Given the description of an element on the screen output the (x, y) to click on. 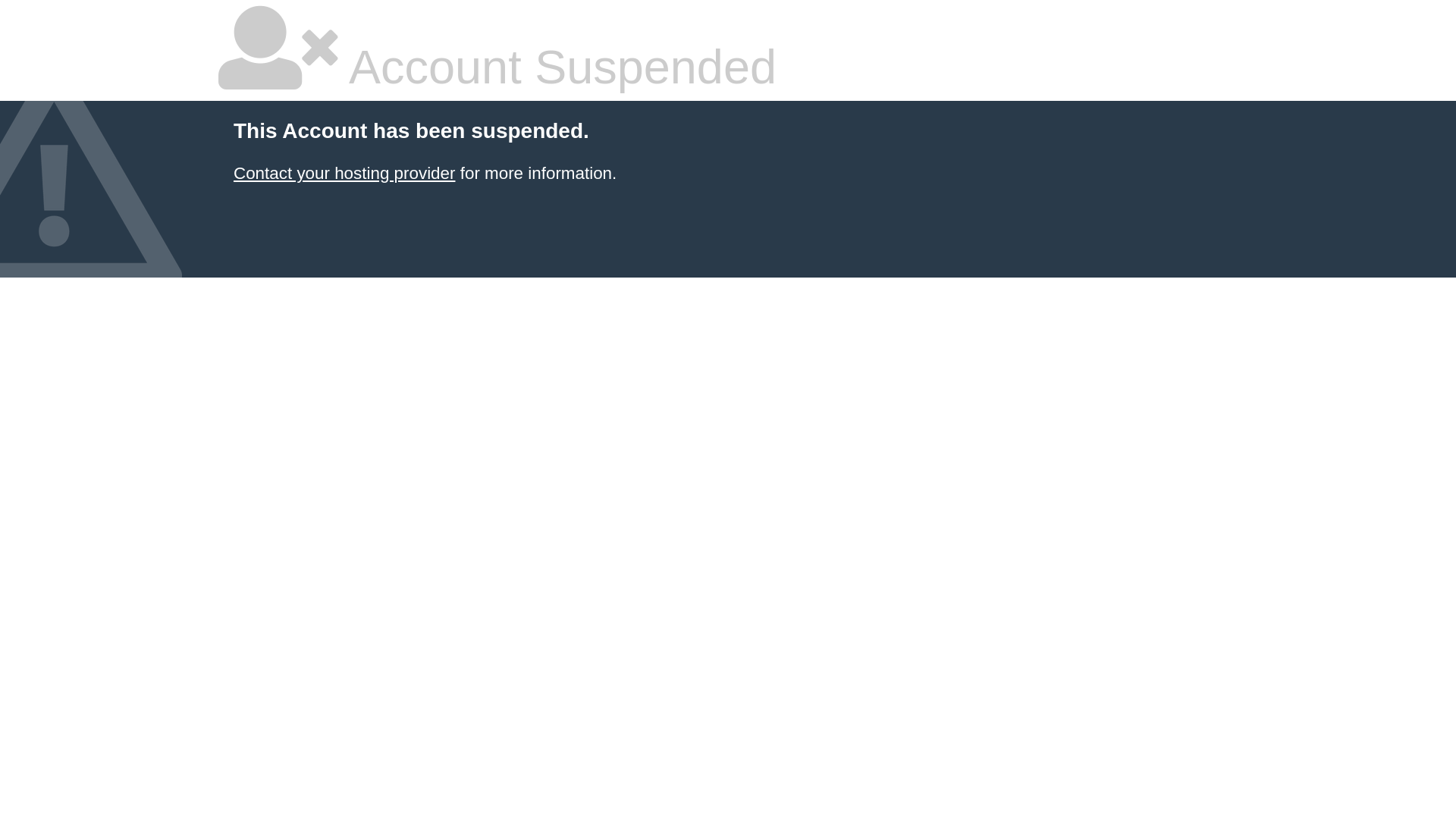
Contact your hosting provider Element type: text (344, 172)
